Given the description of an element on the screen output the (x, y) to click on. 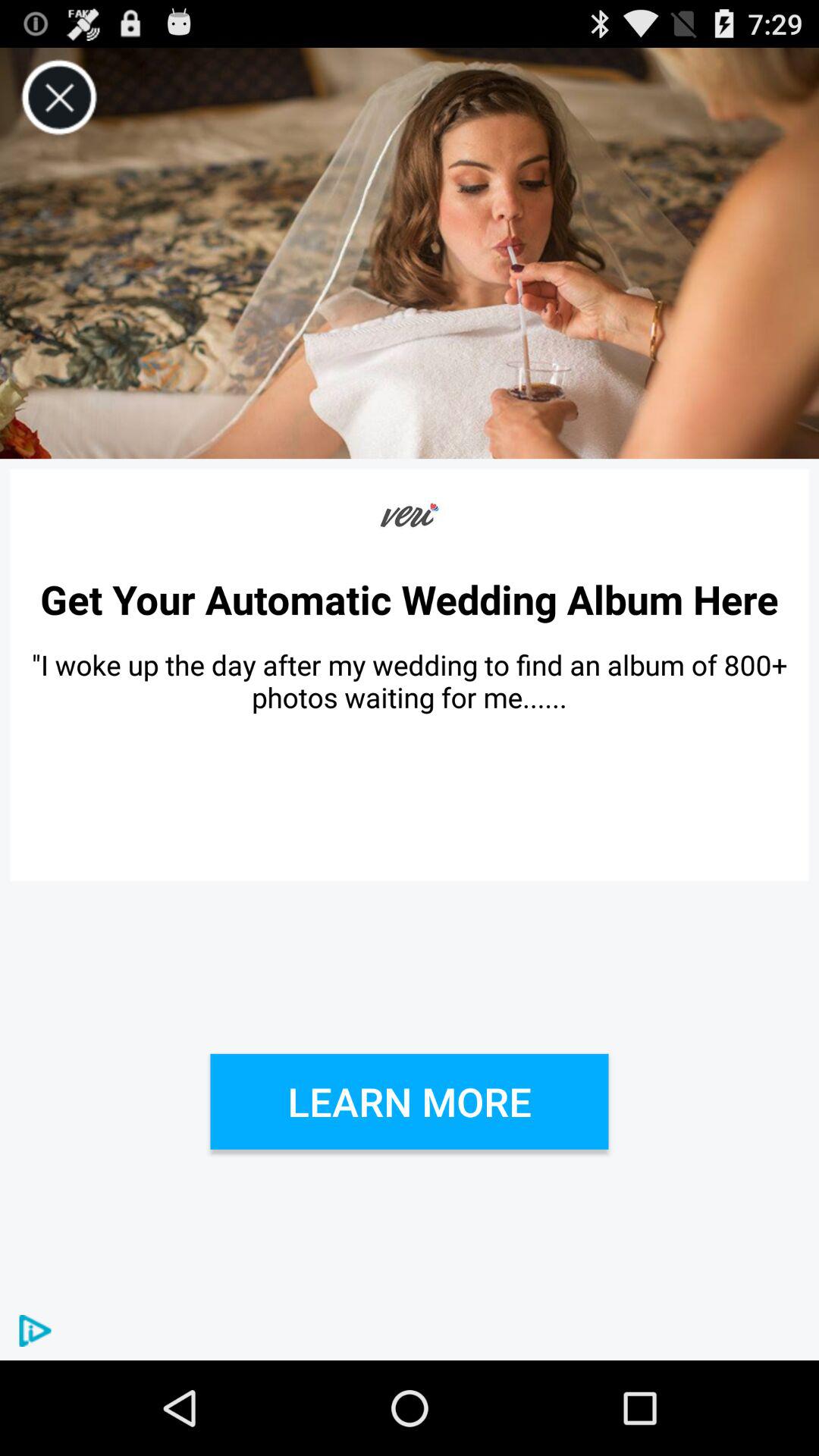
select the icon above the learn more (409, 680)
